Given the description of an element on the screen output the (x, y) to click on. 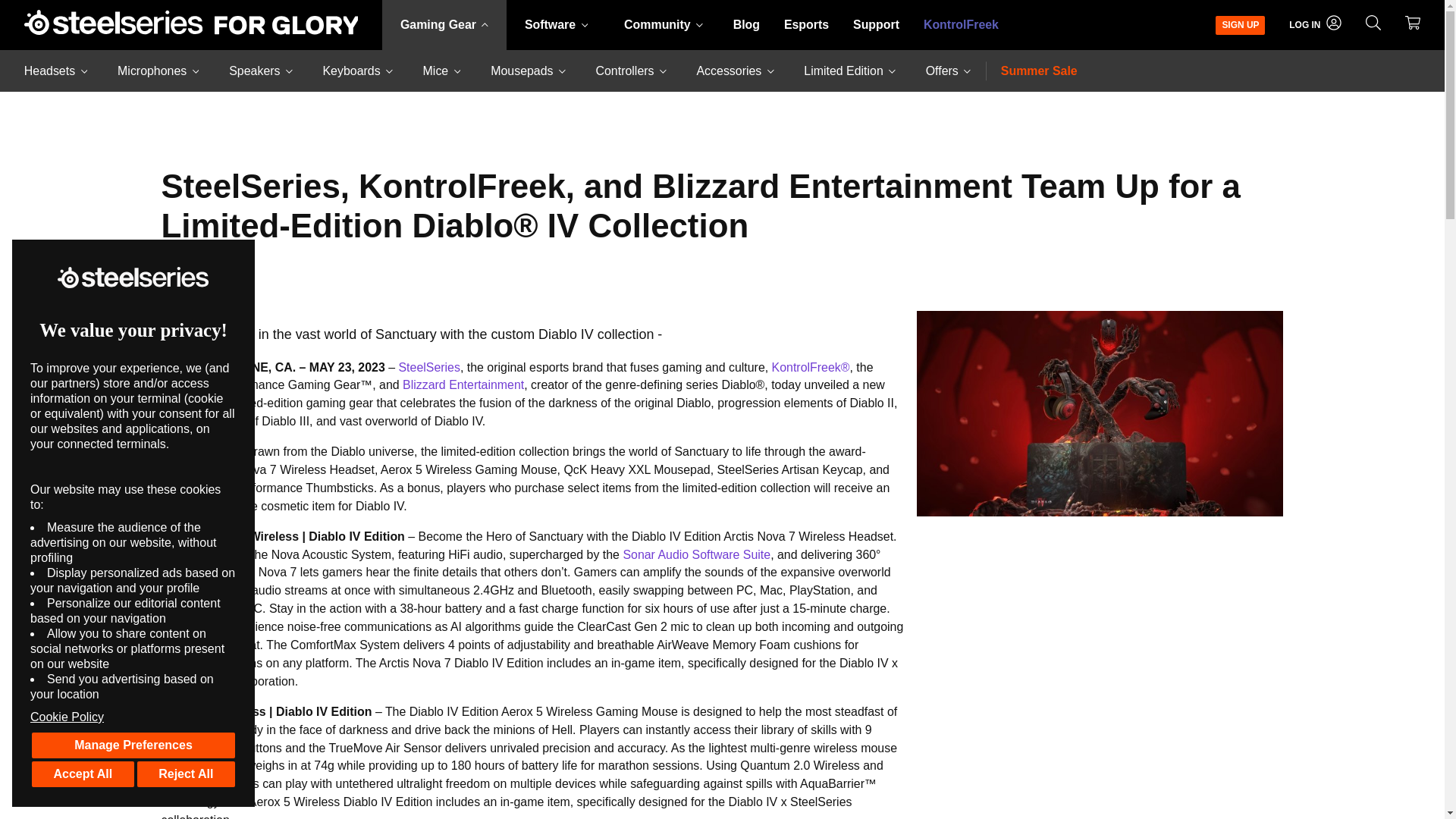
Accept All (82, 774)
KontrolFreek (960, 24)
Crosshair logo (36, 22)
Community Chevron down (662, 24)
Crosshair logoSteelSeriesFor Glory (191, 24)
SIGN UP (1240, 24)
Cookie Policy (132, 717)
Blog (745, 24)
Software Chevron down (555, 24)
LOG INUSER PROFILE (1315, 24)
